Given the description of an element on the screen output the (x, y) to click on. 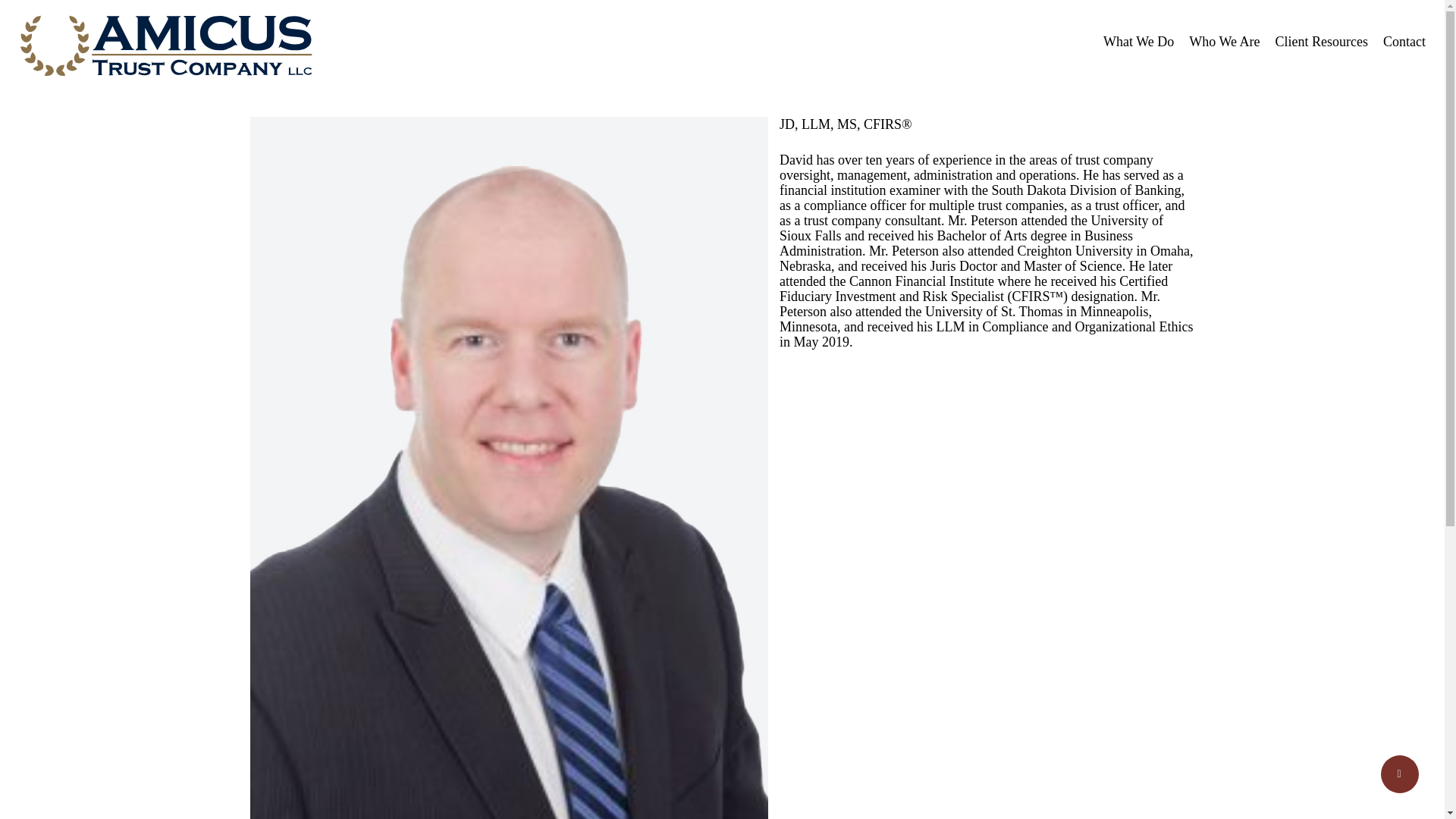
Contact (1404, 41)
Client Resources (1321, 41)
What We Do (1138, 41)
Who We Are (1224, 41)
